Given the description of an element on the screen output the (x, y) to click on. 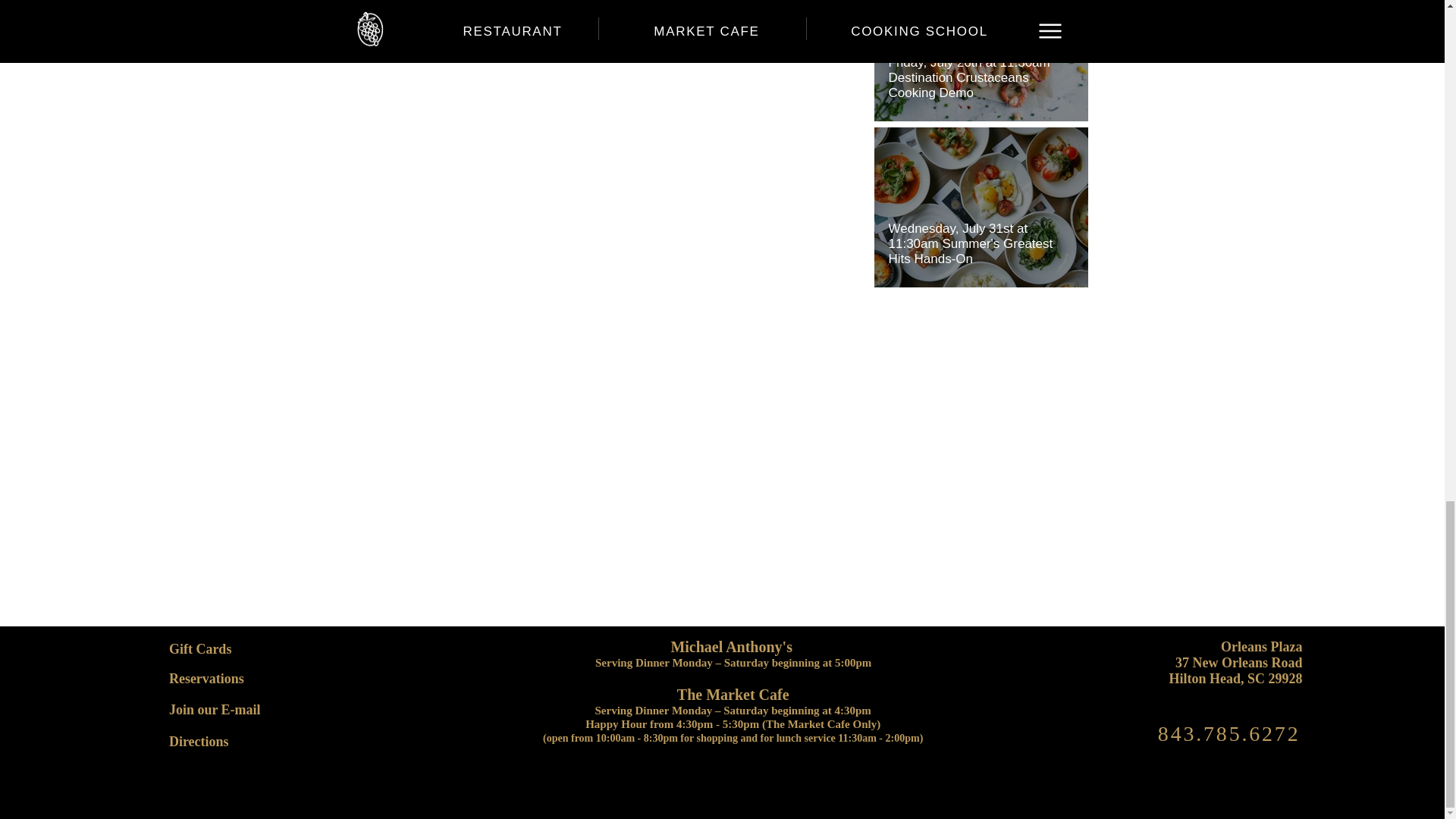
843.785.6272 (1228, 733)
Join our E-mail (214, 709)
Gift Cards (199, 648)
Reservations (206, 678)
Directions (198, 741)
